Given the description of an element on the screen output the (x, y) to click on. 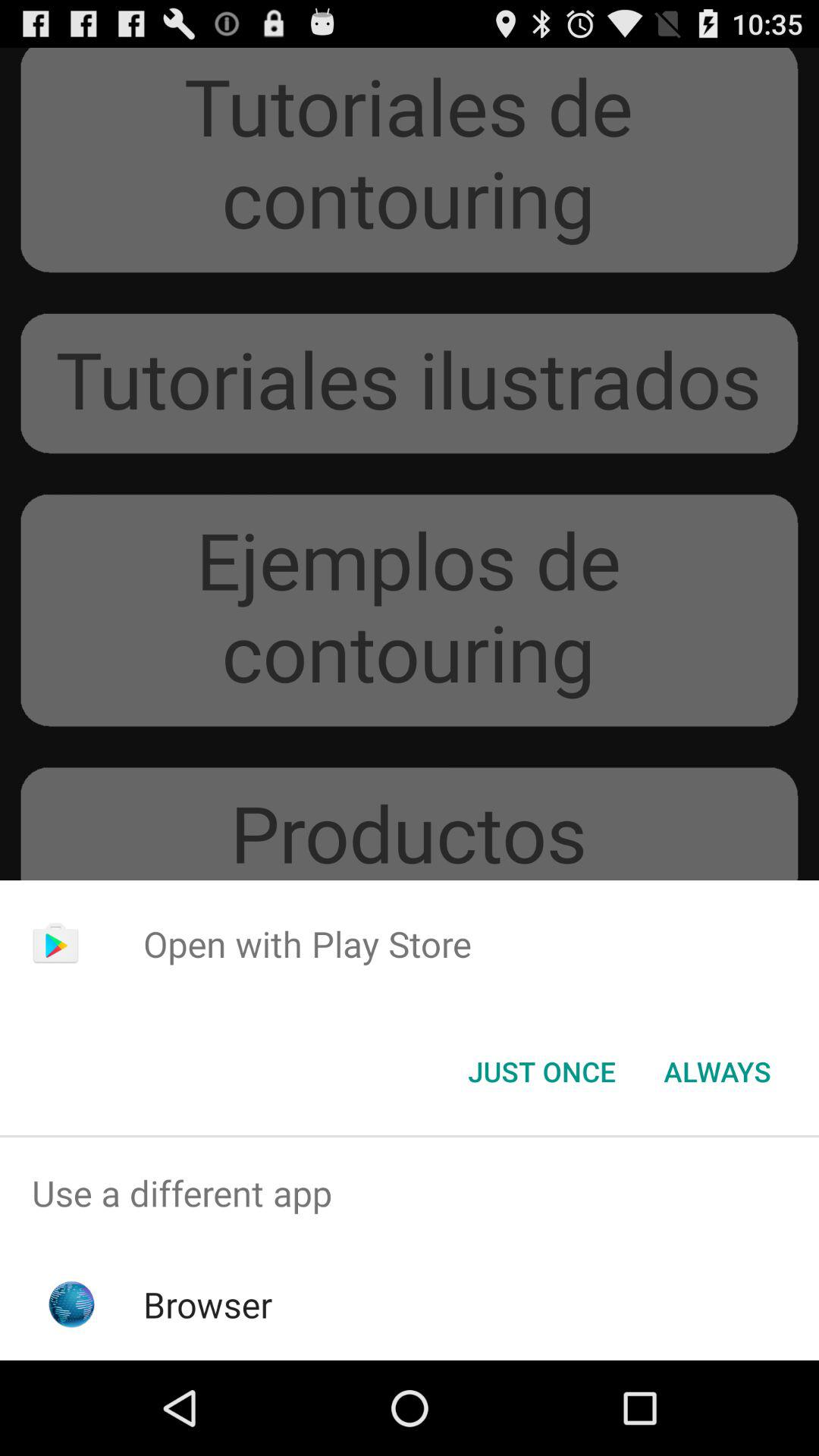
tap icon above browser app (409, 1192)
